Given the description of an element on the screen output the (x, y) to click on. 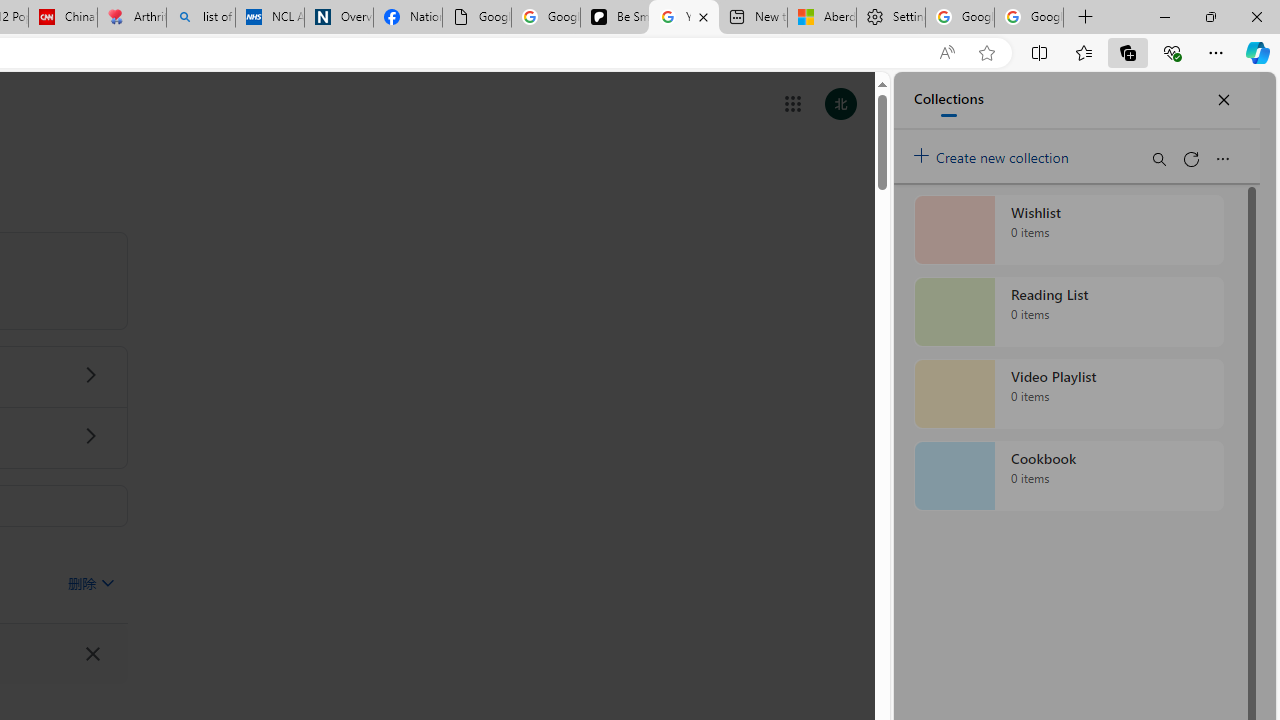
NCL Adult Asthma Inhaler Choice Guideline (269, 17)
Be Smart | creating Science videos | Patreon (614, 17)
Arthritis: Ask Health Professionals (132, 17)
list of asthma inhalers uk - Search (200, 17)
